Given the description of an element on the screen output the (x, y) to click on. 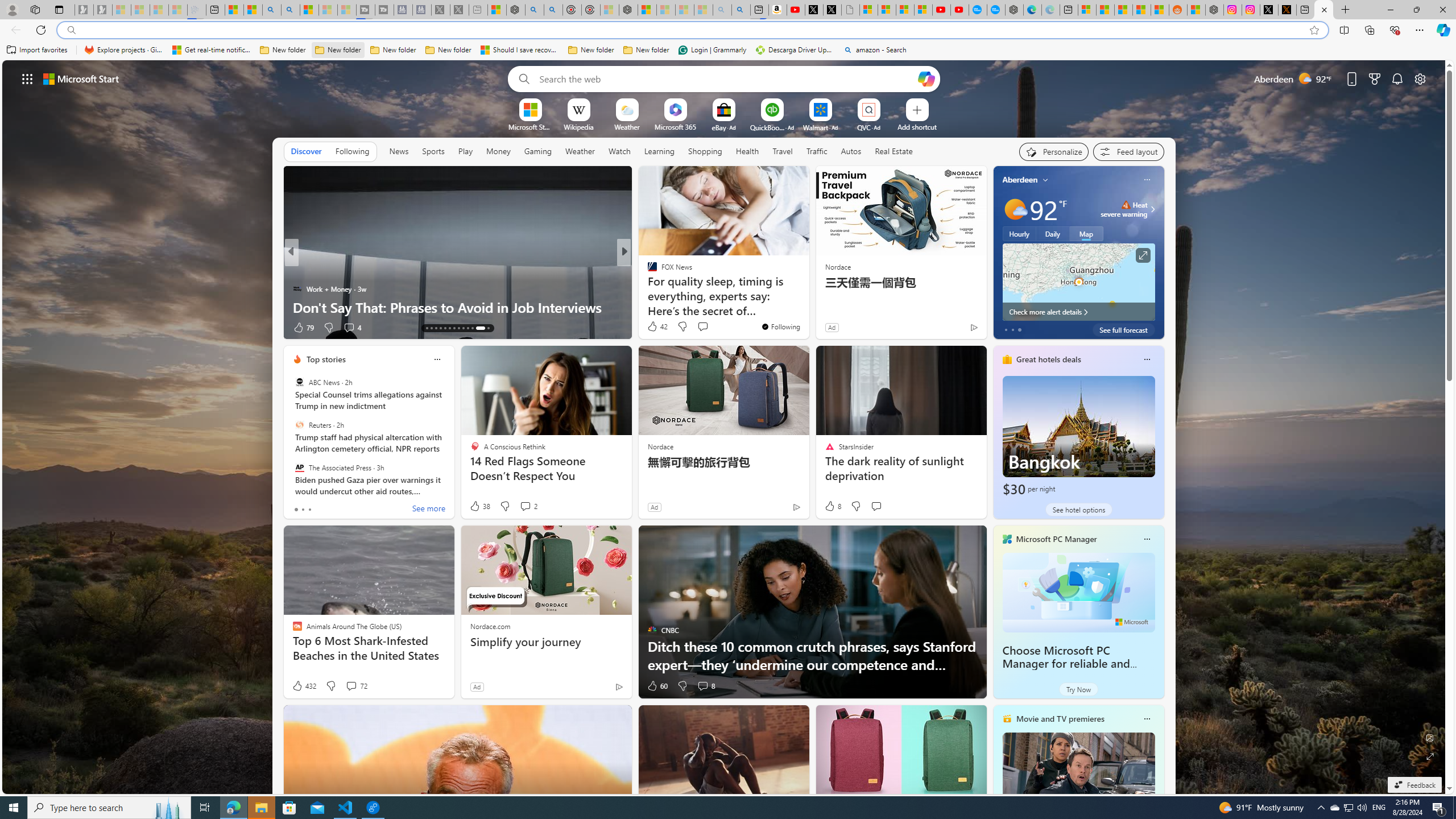
poe ++ standard - Search (552, 9)
Should I save recovered Word documents? - Microsoft Support (519, 49)
Click to see more information (1142, 255)
Microsoft PC Manager (1056, 538)
hotels-header-icon (1006, 358)
